Given the description of an element on the screen output the (x, y) to click on. 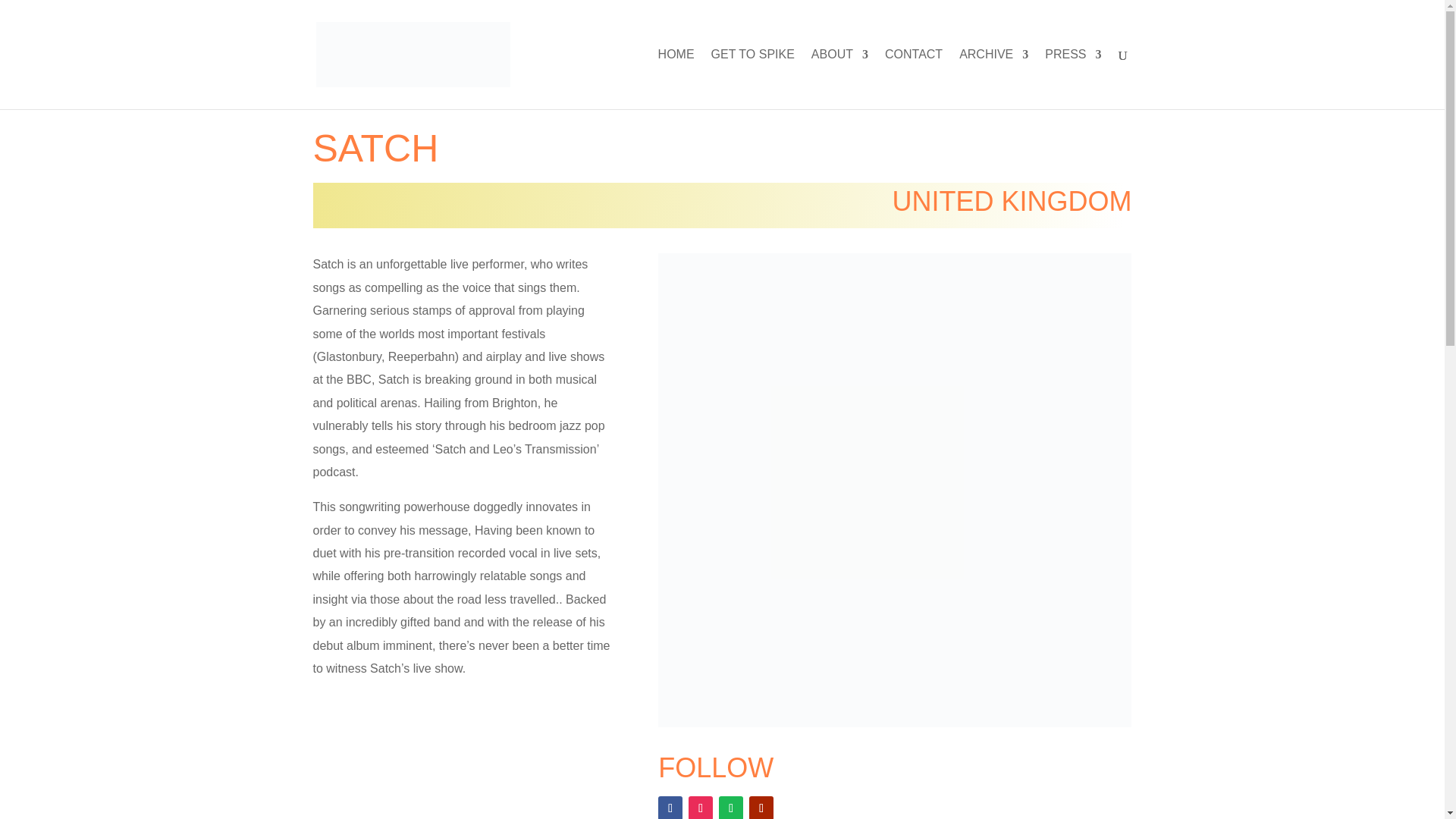
GET TO SPIKE (752, 78)
Follow on Spotify (730, 807)
HOME (676, 78)
CONTACT (913, 78)
ARCHIVE (993, 78)
Follow on Youtube (761, 807)
ABOUT (838, 78)
PRESS (1072, 78)
Follow on Instagram (700, 807)
Follow on Facebook (670, 807)
